Given the description of an element on the screen output the (x, y) to click on. 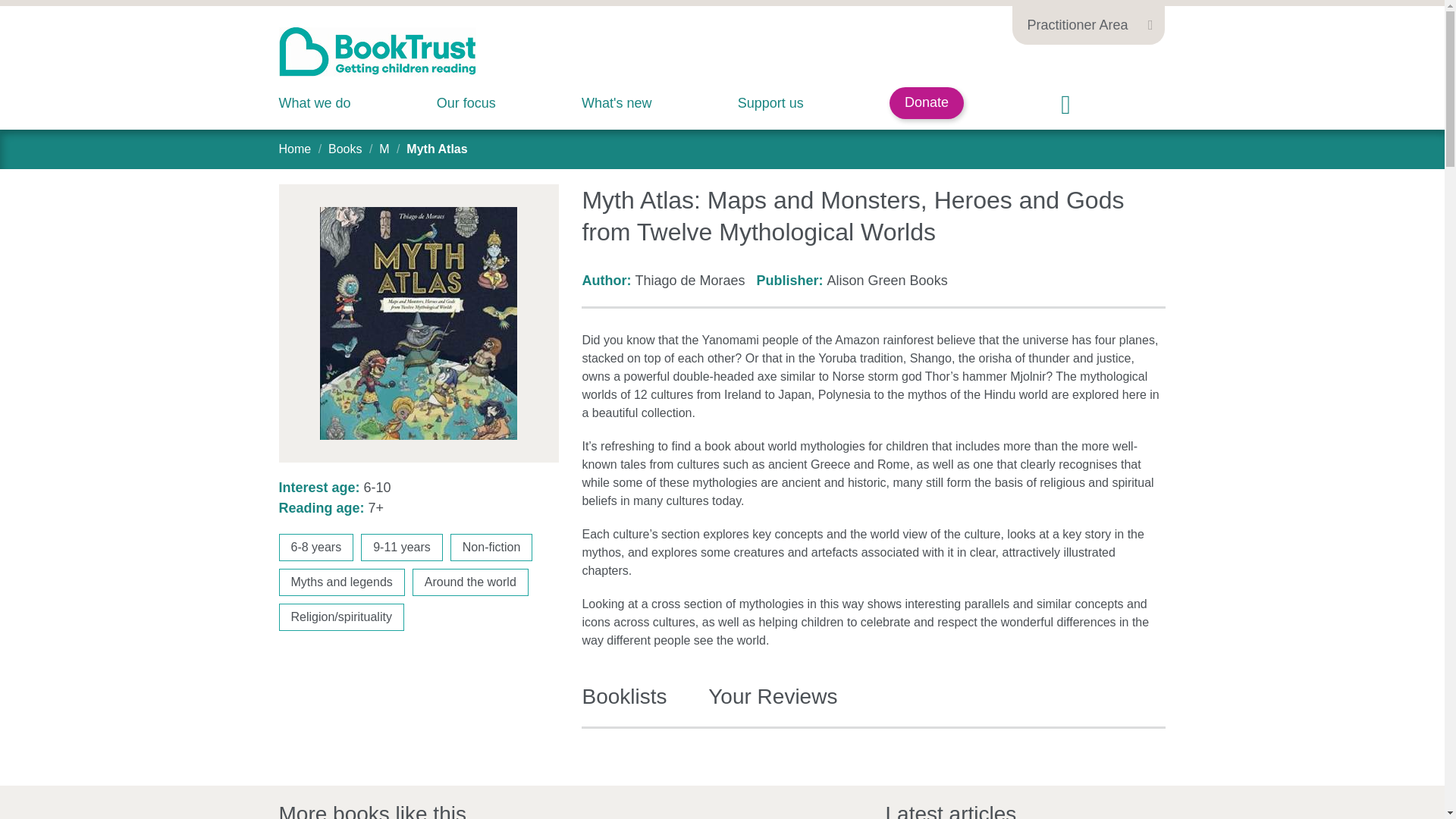
Home (295, 148)
Practitioner Area (1087, 22)
What we do (314, 103)
BookTrust Logo (377, 51)
